Given the description of an element on the screen output the (x, y) to click on. 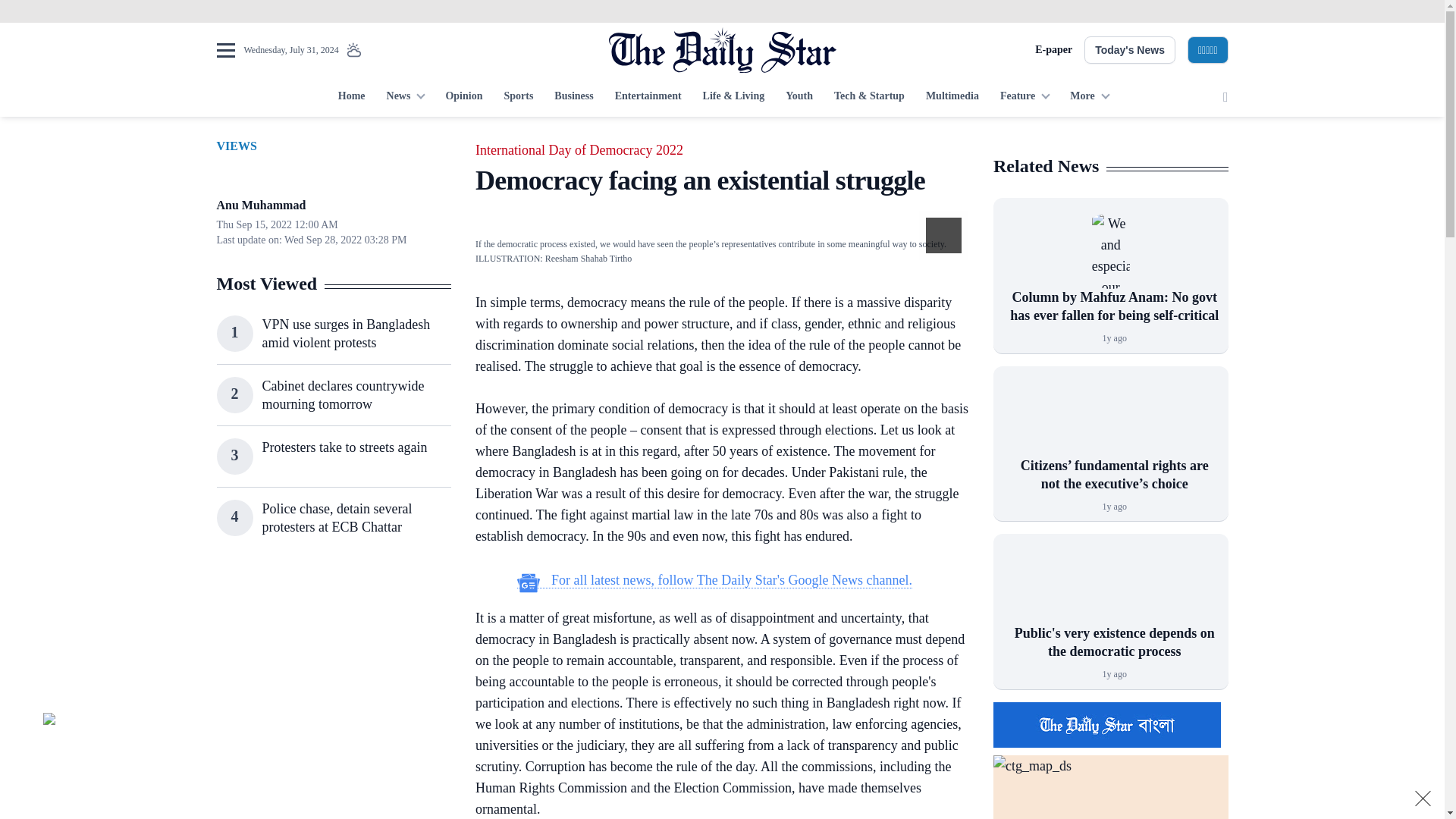
E-paper (1053, 49)
Today's News (1129, 49)
Feature (1024, 96)
Home (351, 96)
Sports (518, 96)
Opinion (463, 96)
Business (573, 96)
Entertainment (647, 96)
News (405, 96)
No government has ever fallen for being self-critical (1110, 250)
Youth (799, 96)
Multimedia (952, 96)
